Given the description of an element on the screen output the (x, y) to click on. 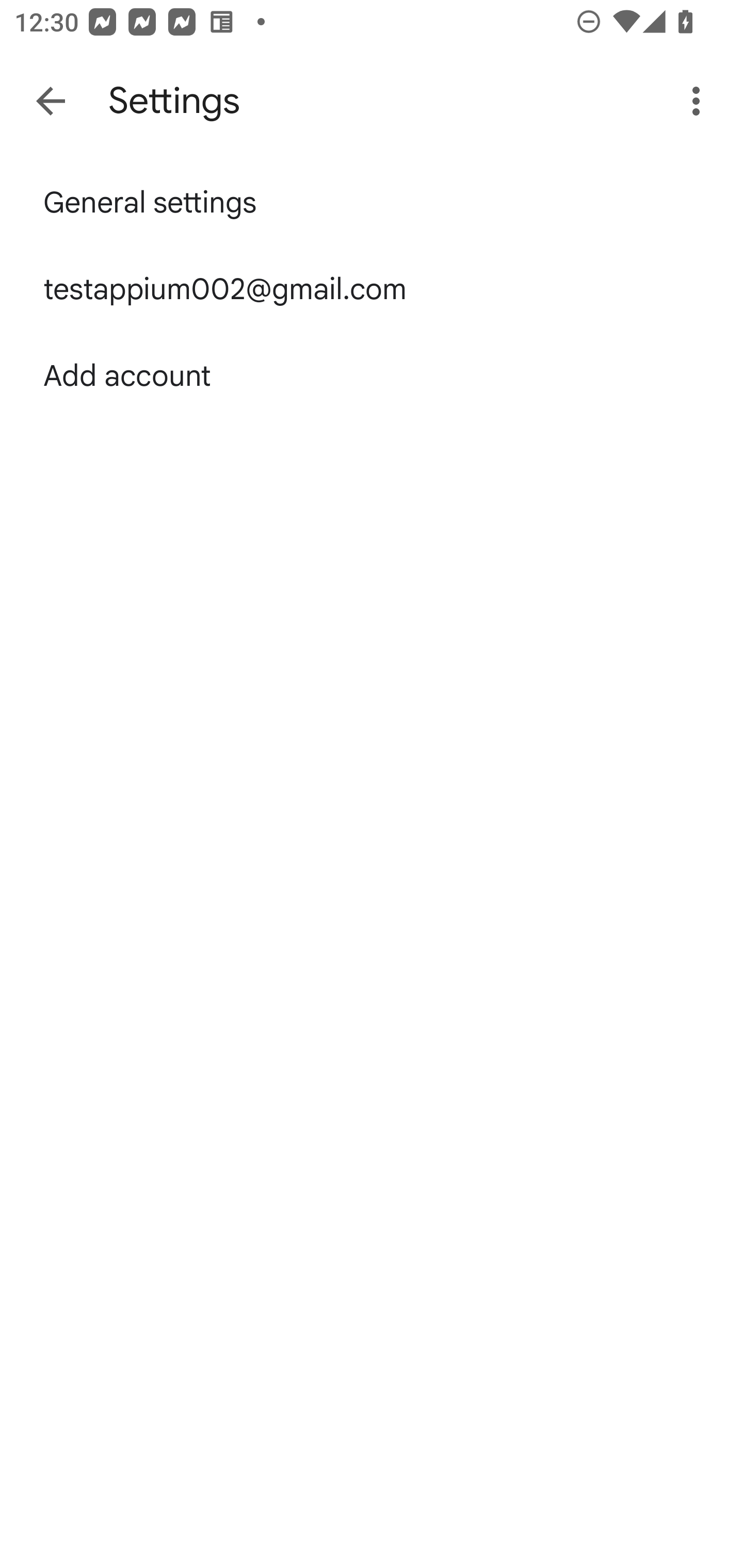
Navigate up (50, 101)
More options (699, 101)
General settings (371, 202)
testappium002@gmail.com (371, 289)
Add account (371, 375)
